Given the description of an element on the screen output the (x, y) to click on. 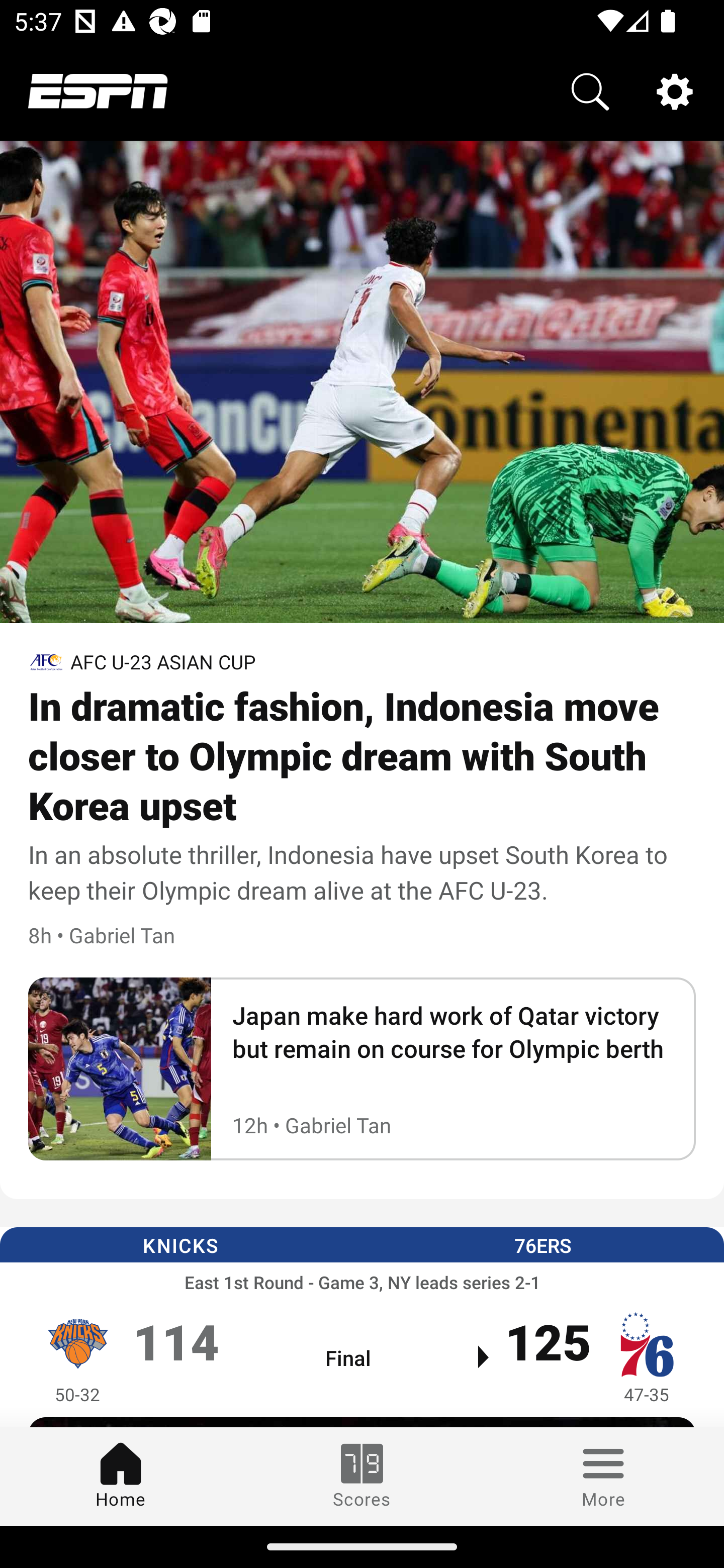
Search (590, 90)
Settings (674, 90)
Scores (361, 1475)
More (603, 1475)
